Given the description of an element on the screen output the (x, y) to click on. 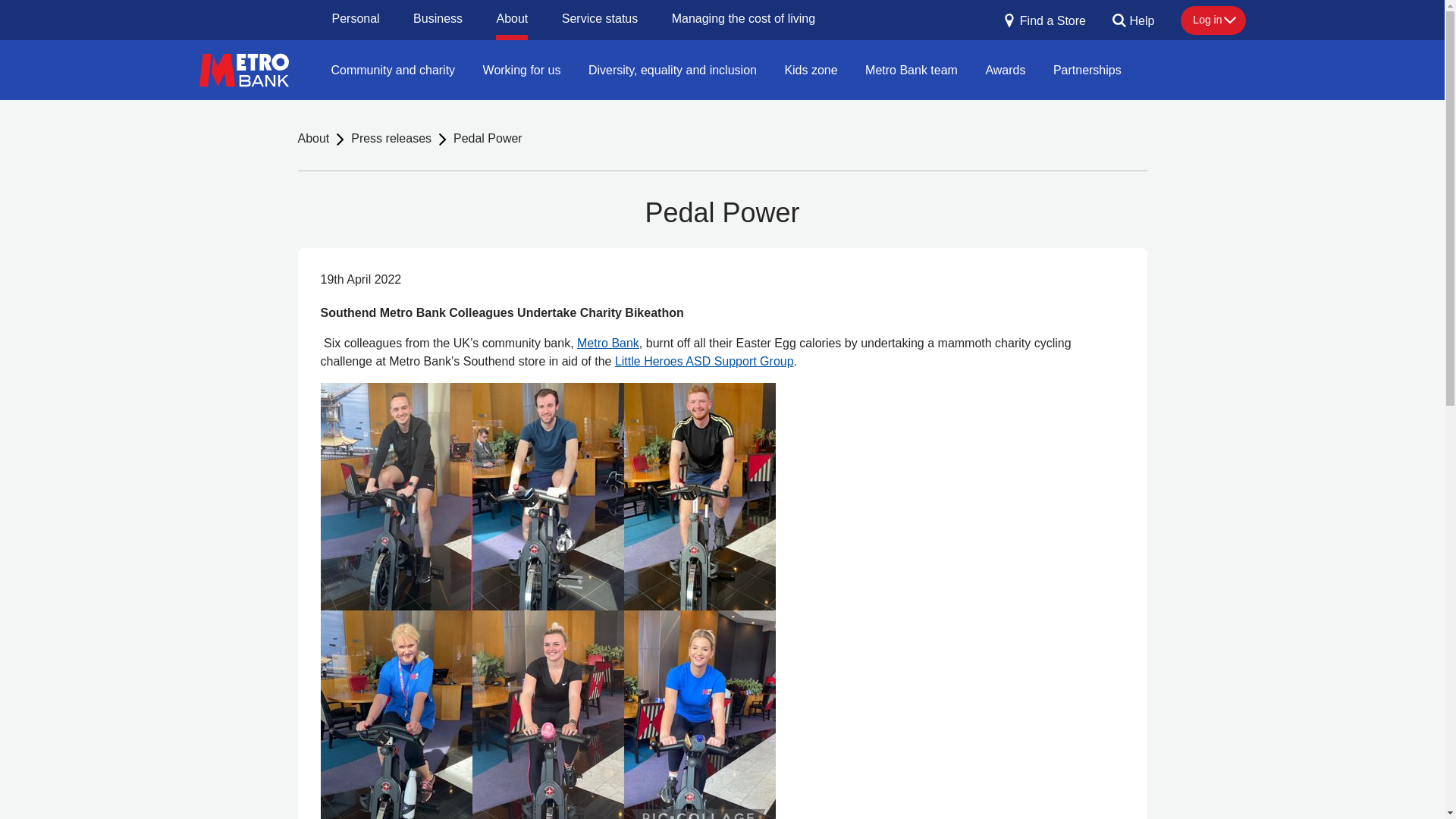
About (313, 139)
Press releases (390, 139)
Community and charity (392, 69)
Partnerships (1087, 69)
Personal (355, 20)
Business (438, 20)
Help (1133, 26)
Find a Store (1044, 26)
Little Heroes ASD Support Group (703, 360)
Metro Bank team (911, 69)
Kids zone (809, 69)
Managing the cost of living (743, 20)
Working for us (521, 69)
Service status (599, 20)
Diversity, equality and inclusion (672, 69)
